Given the description of an element on the screen output the (x, y) to click on. 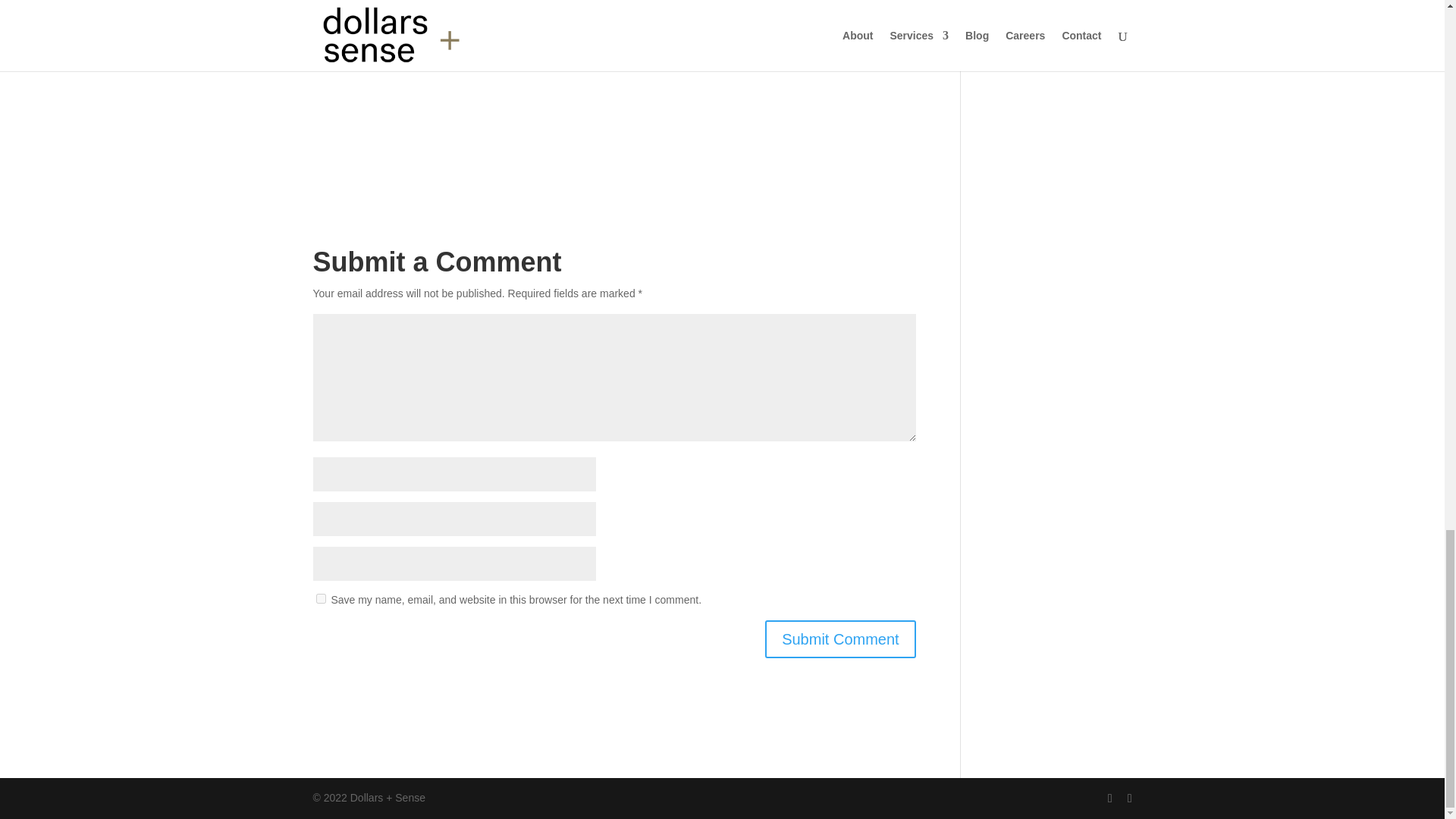
yes (319, 598)
Submit Comment (840, 638)
Submit Comment (840, 638)
